Given the description of an element on the screen output the (x, y) to click on. 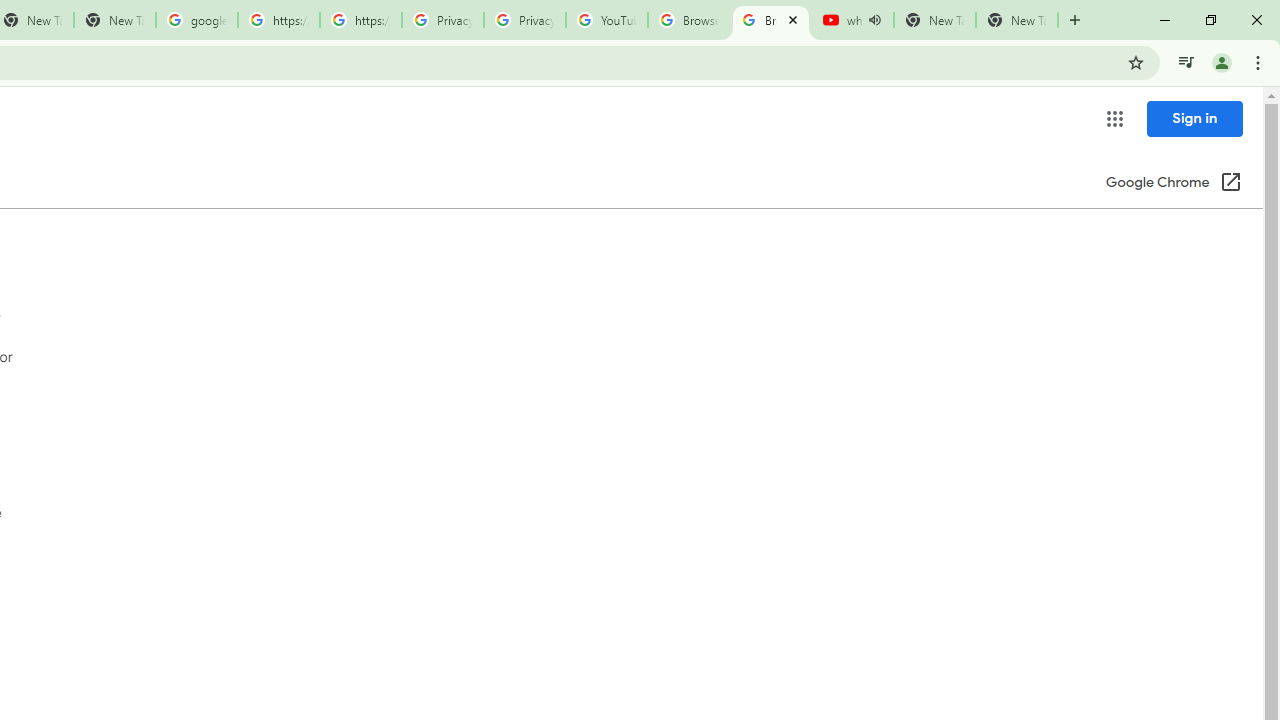
New Tab (1016, 20)
Google Chrome (Open in a new window) (1173, 183)
